Given the description of an element on the screen output the (x, y) to click on. 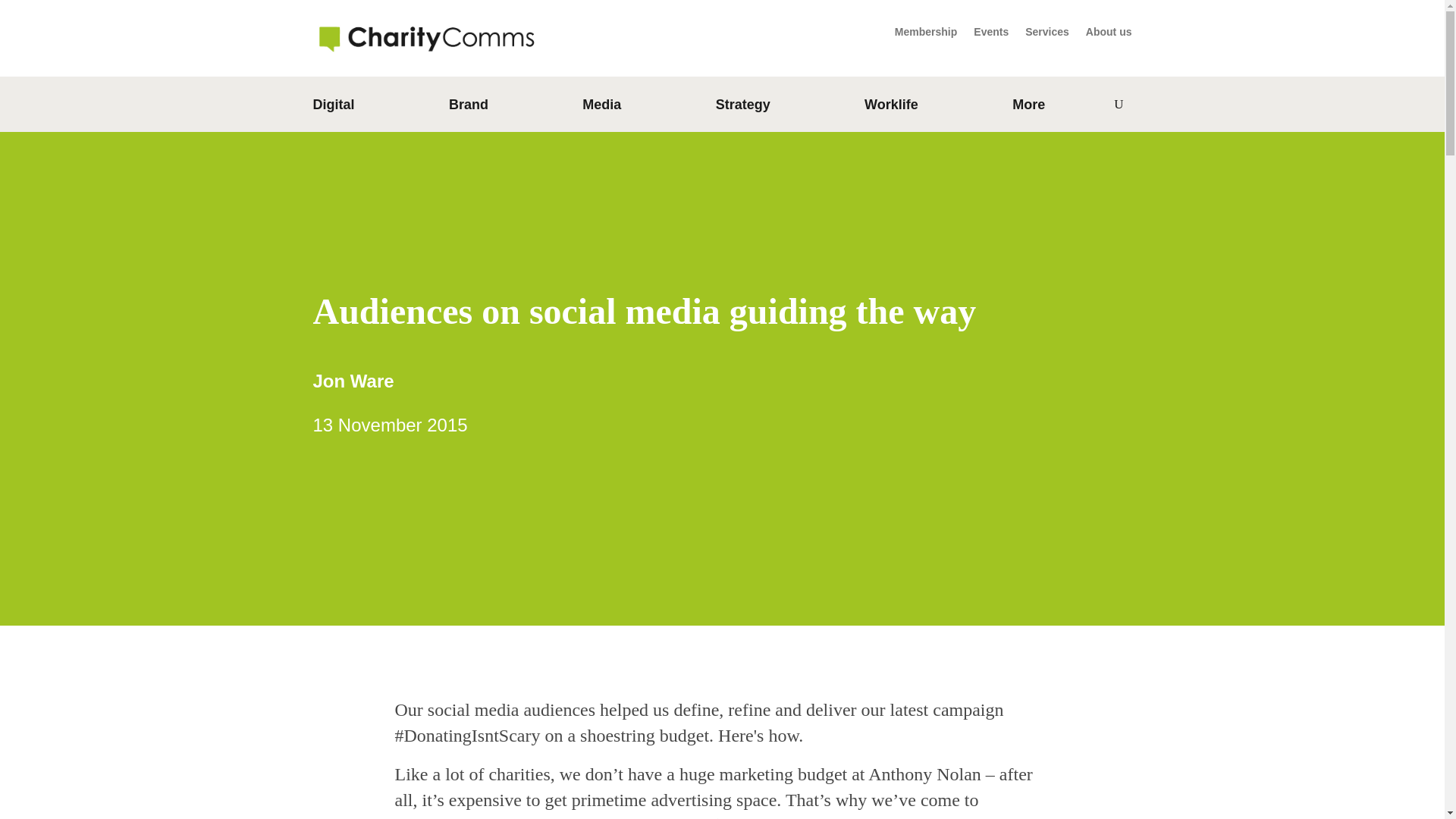
Events (991, 34)
Brand (467, 107)
Worklife (891, 107)
Media (601, 107)
Services (1046, 34)
Search (1087, 104)
About us (1109, 34)
More (1028, 107)
Digital (333, 107)
Membership (925, 34)
